Given the description of an element on the screen output the (x, y) to click on. 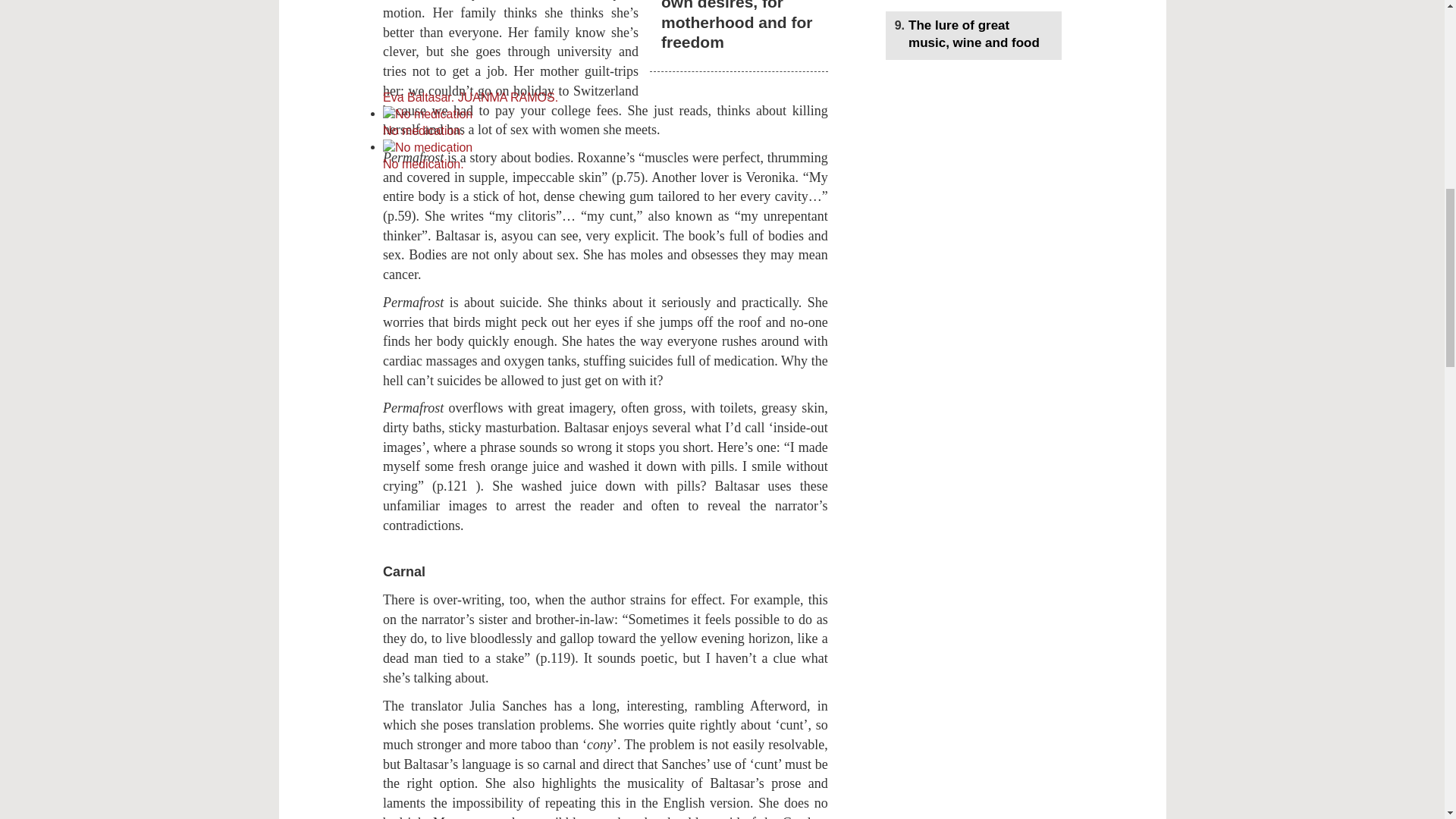
Eva Baltasar. JUANMA RAMOS. (686, 44)
No medication (426, 114)
Eva Baltasar. JUANMA RAMOS. (686, 52)
No medication (605, 122)
No medication (605, 155)
